Given the description of an element on the screen output the (x, y) to click on. 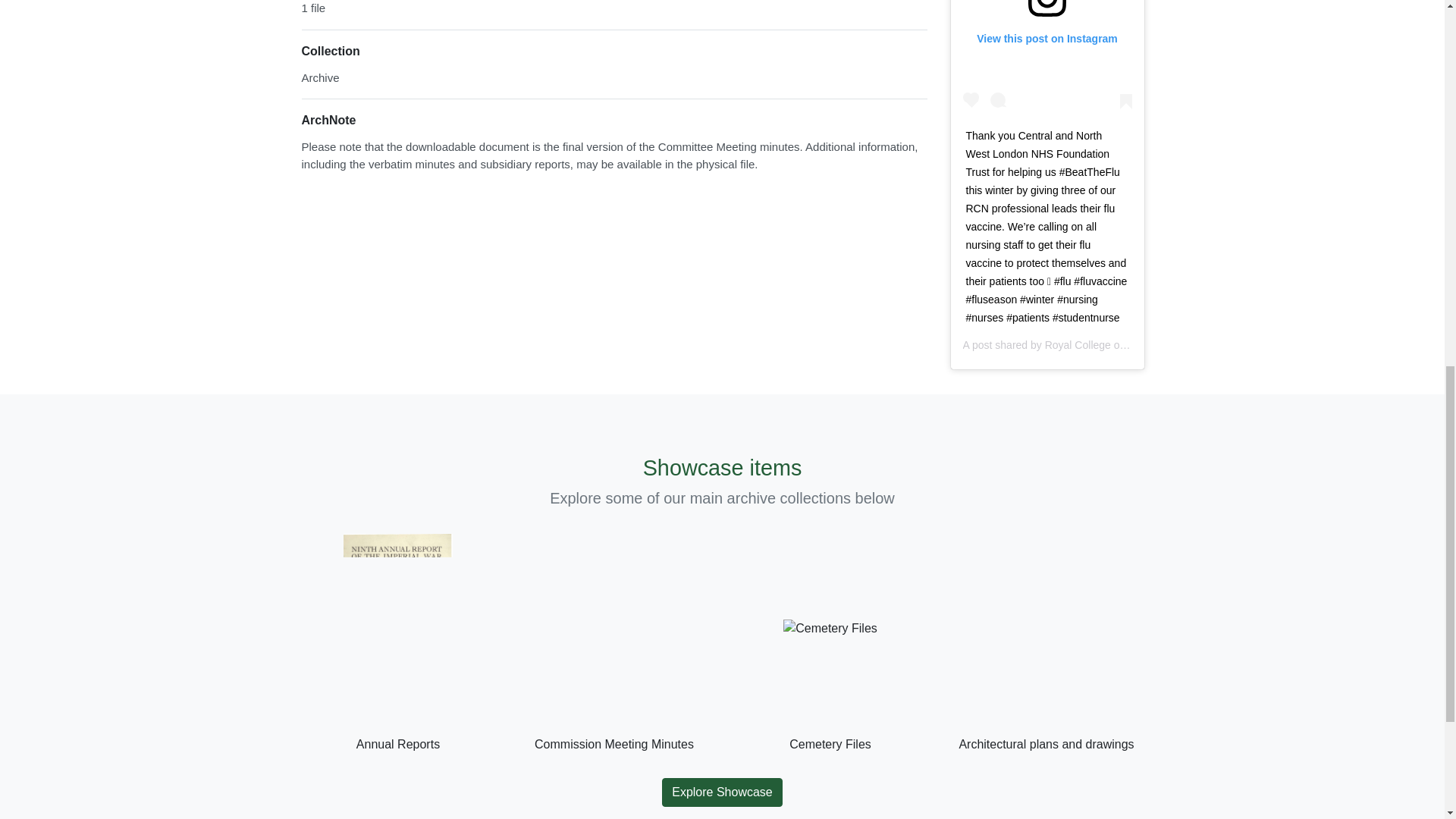
Explore Showcase (722, 792)
View this post on Instagram (1047, 58)
Royal College of Nursing (1103, 345)
